Given the description of an element on the screen output the (x, y) to click on. 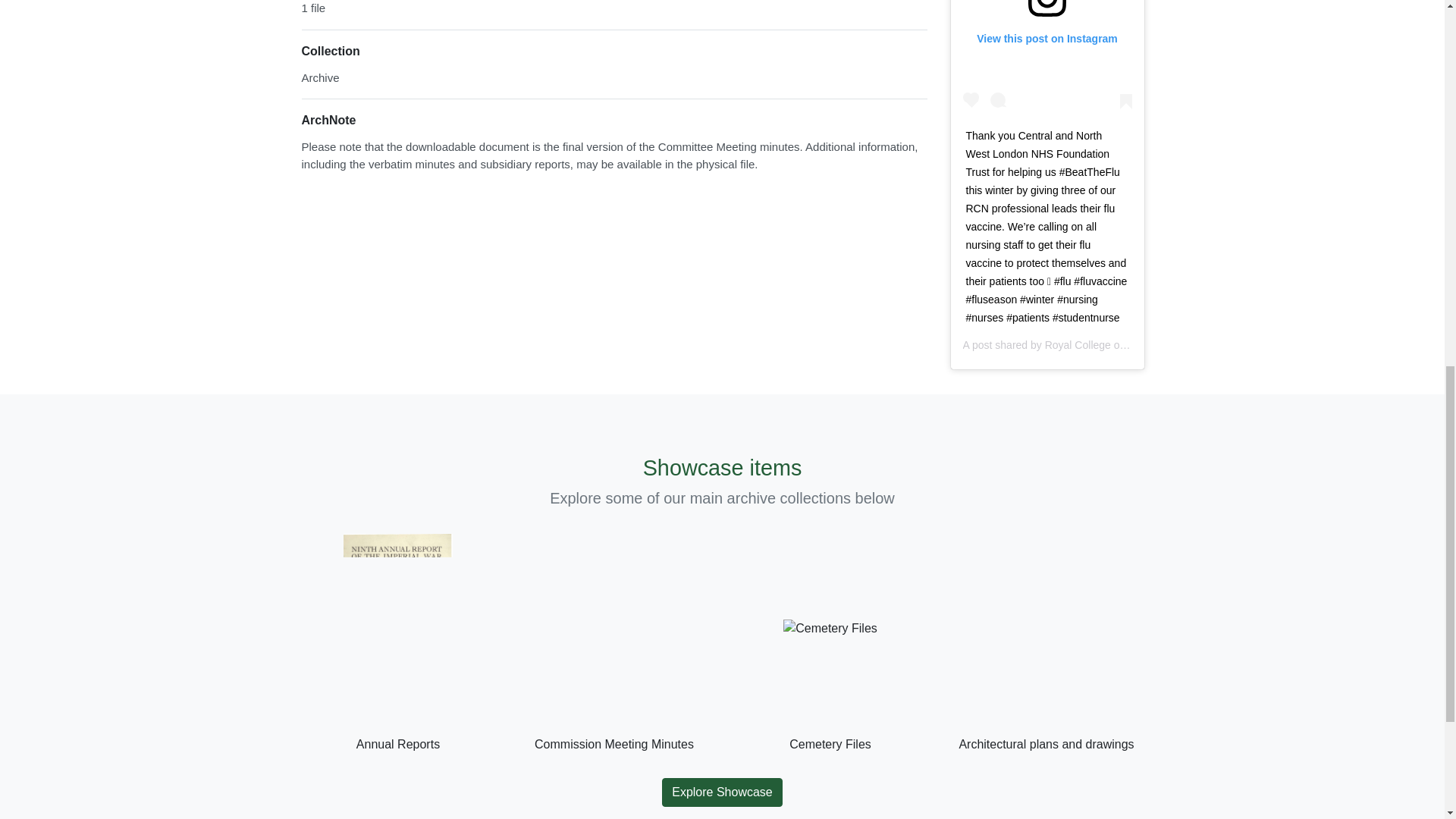
Explore Showcase (722, 792)
View this post on Instagram (1047, 58)
Royal College of Nursing (1103, 345)
